Given the description of an element on the screen output the (x, y) to click on. 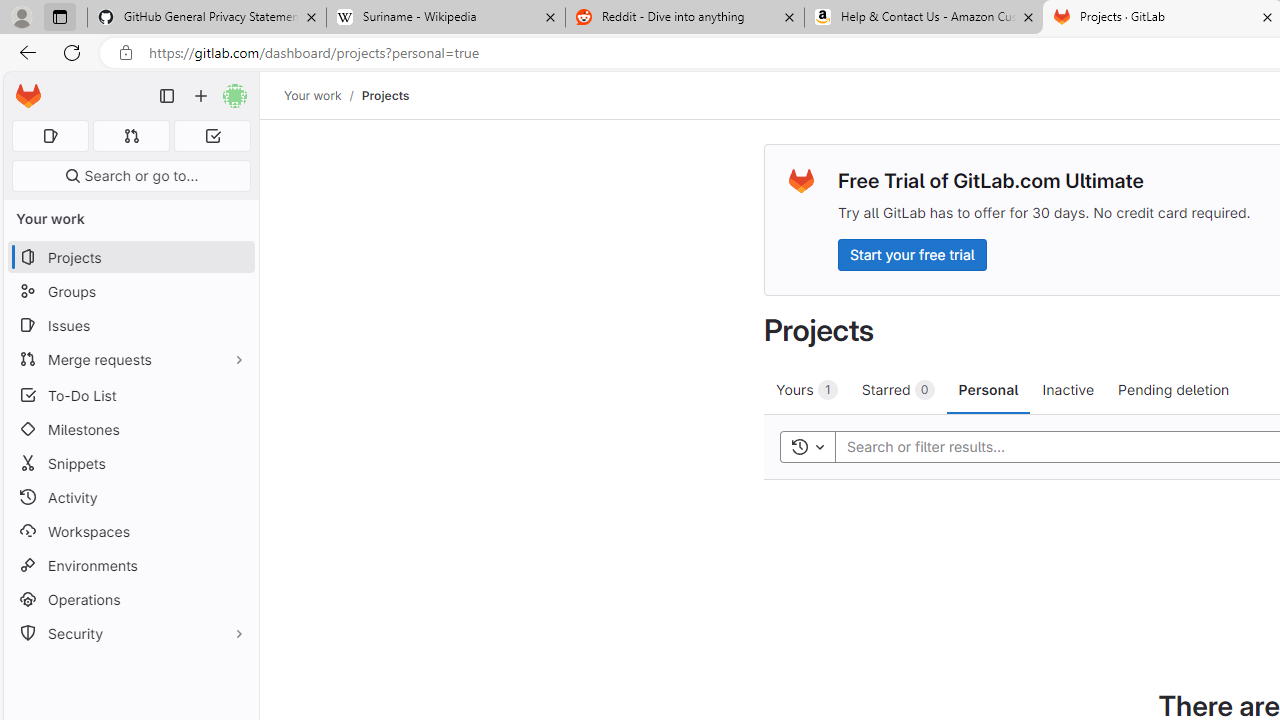
Operations (130, 599)
Merge requests (130, 358)
Activity (130, 497)
Issues (130, 325)
Help & Contact Us - Amazon Customer Service (924, 17)
Reddit - Dive into anything (684, 17)
To-Do List (130, 394)
Inactive (1068, 389)
GitHub General Privacy Statement - GitHub Docs (207, 17)
Yours 1 (806, 389)
Snippets (130, 463)
Your work (312, 95)
Toggle history (807, 445)
Start your free trial (912, 254)
